Given the description of an element on the screen output the (x, y) to click on. 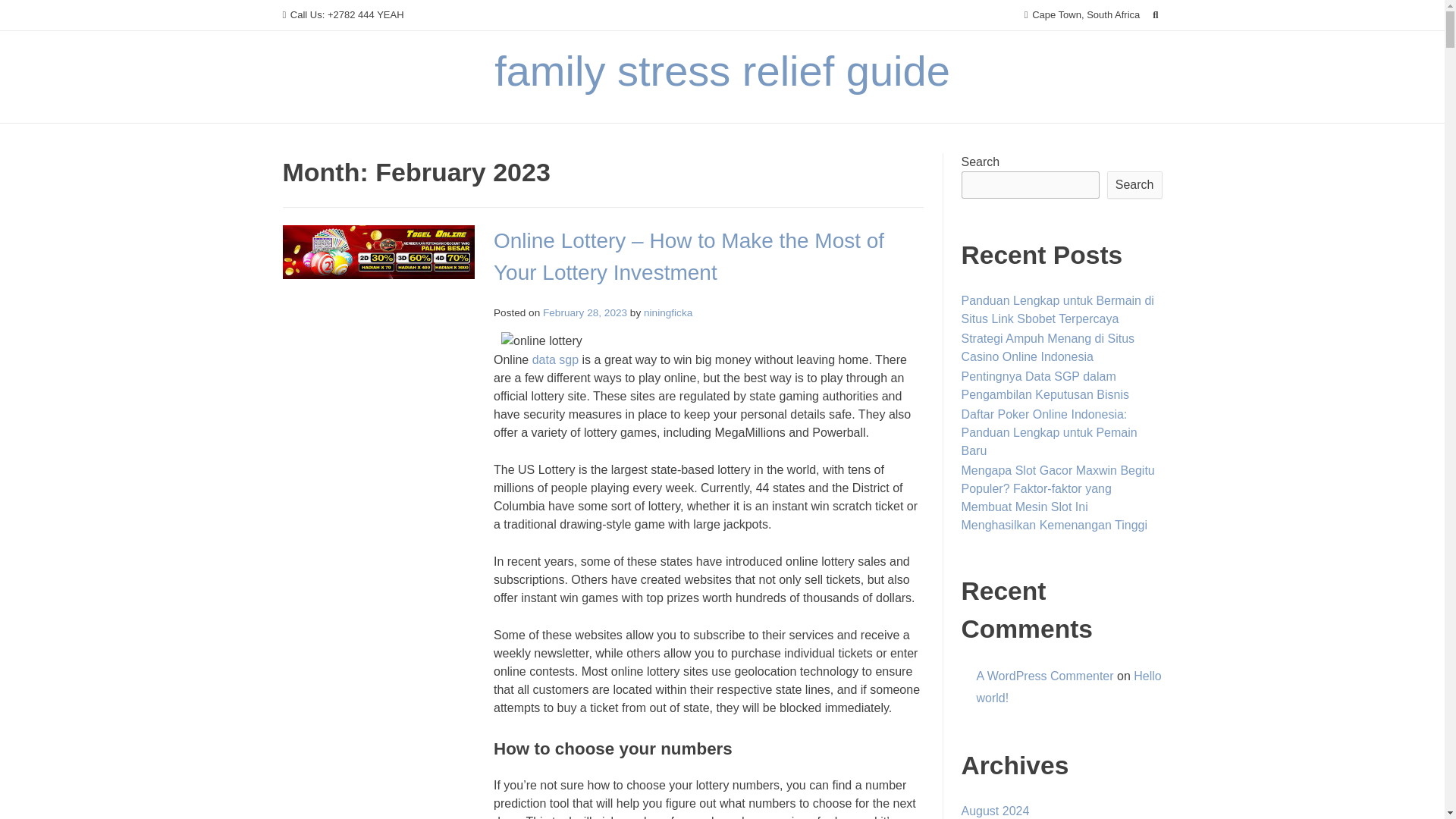
data sgp (555, 359)
February 28, 2023 (585, 312)
family stress relief guide (722, 70)
niningficka (668, 312)
Search (27, 13)
